Given the description of an element on the screen output the (x, y) to click on. 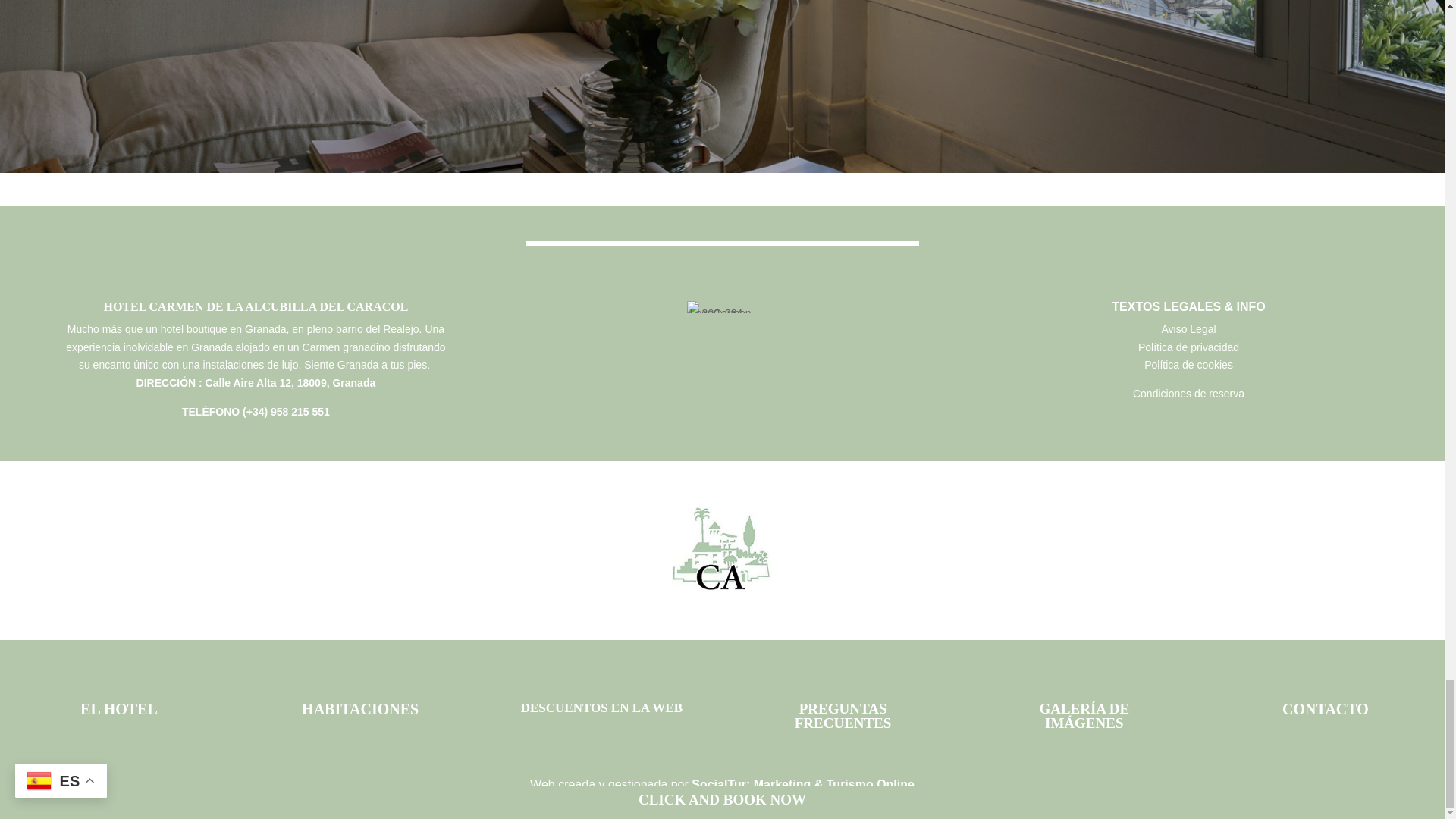
logo alcubilla caracol hotel boutique carmen granada (721, 550)
LogoCarmen-300x284 (722, 306)
